Given the description of an element on the screen output the (x, y) to click on. 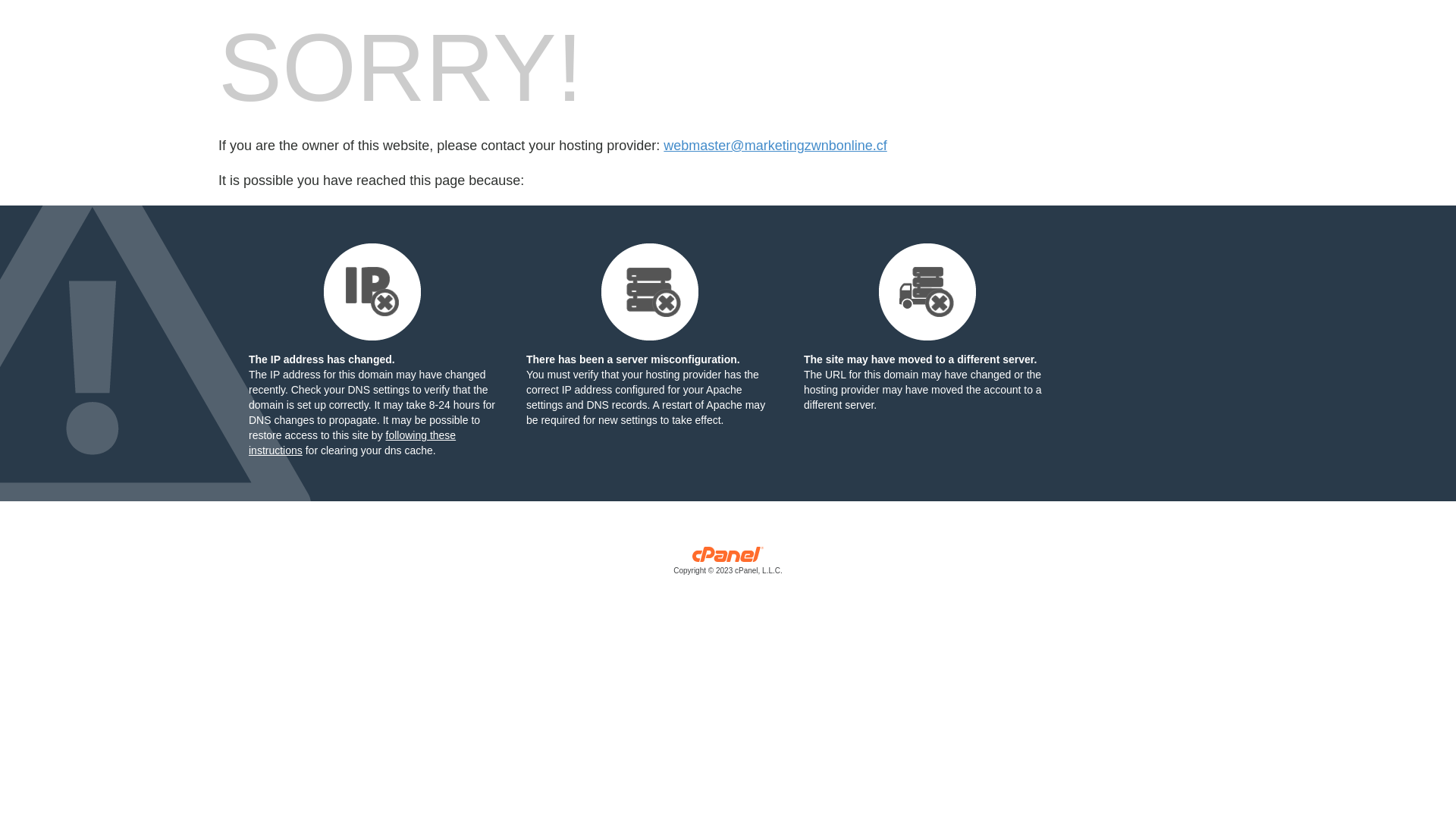
webmaster@marketingzwnbonline.cf Element type: text (774, 145)
following these instructions Element type: text (351, 442)
